Given the description of an element on the screen output the (x, y) to click on. 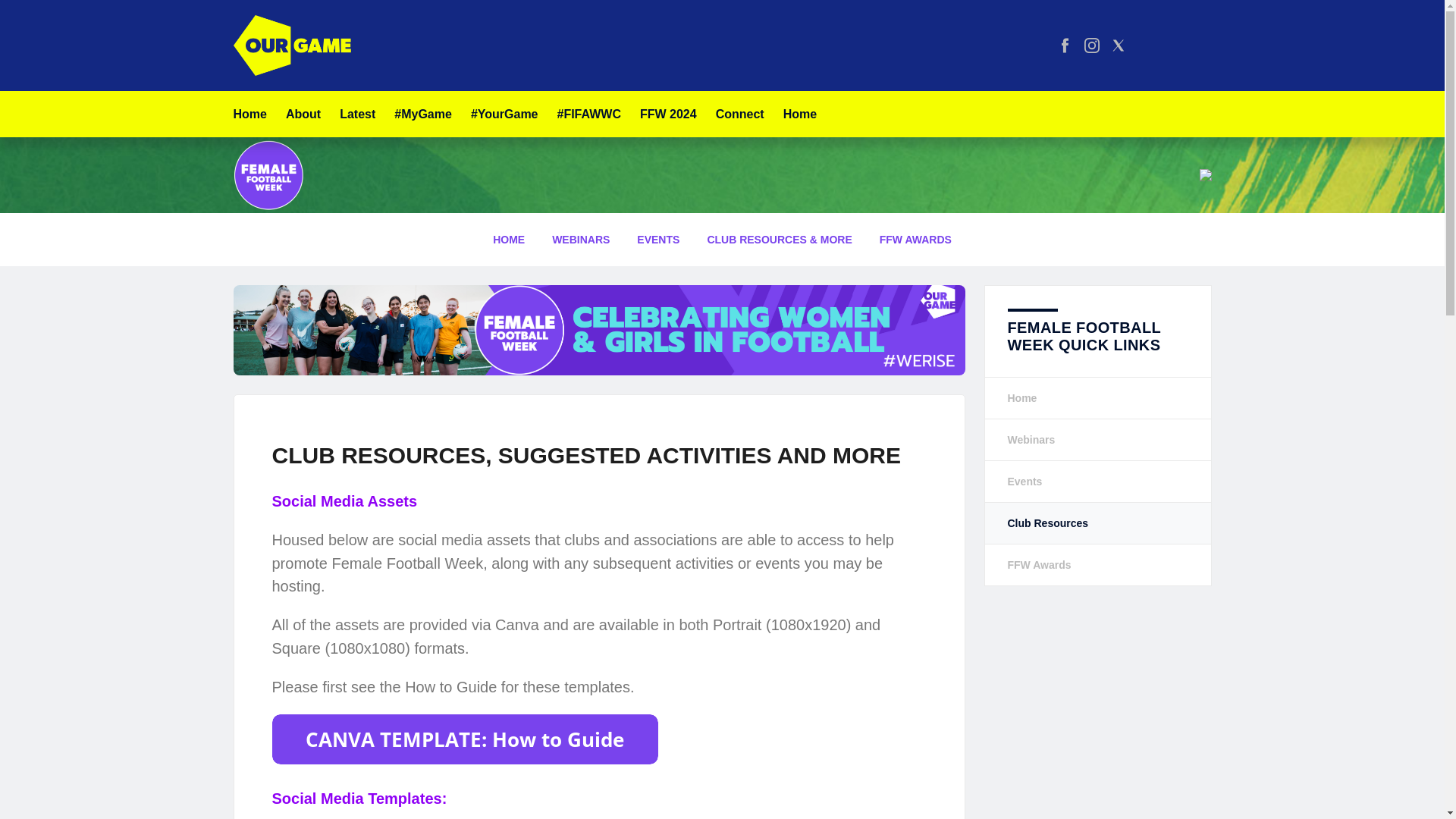
FFW AWARDS (915, 239)
FFW 2024 (668, 114)
Webinars (1096, 439)
Club Resources (1096, 522)
Home (1096, 397)
Connect (740, 114)
HOME (508, 239)
About (302, 114)
Events (1096, 481)
Home (799, 114)
Home (249, 114)
WEBINARS (580, 239)
Latest (357, 114)
EVENTS (657, 239)
